Given the description of an element on the screen output the (x, y) to click on. 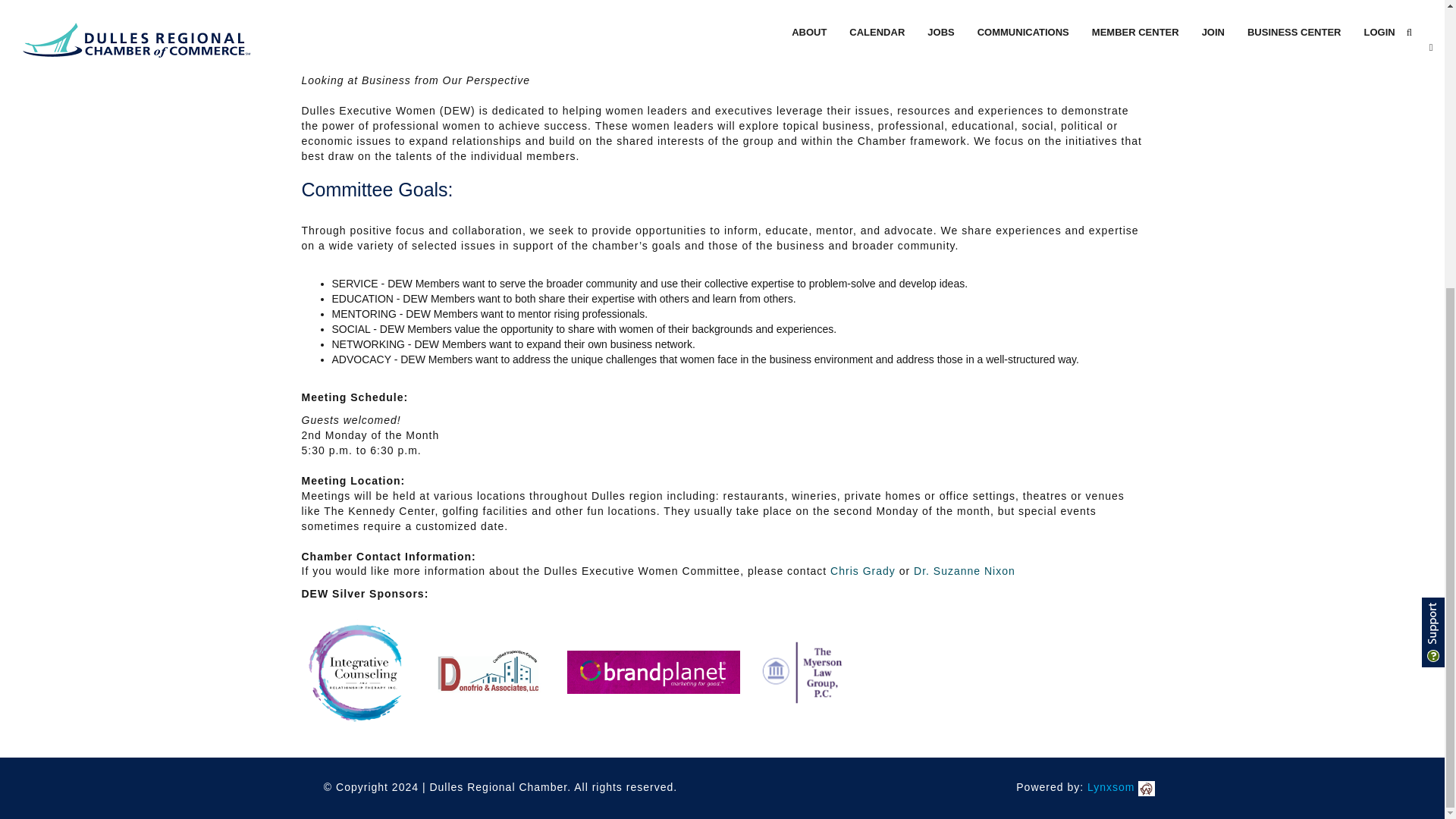
Dr. Suzanne Nixon (964, 571)
Chris Grady (864, 571)
Lynxsom (1120, 787)
